Given the description of an element on the screen output the (x, y) to click on. 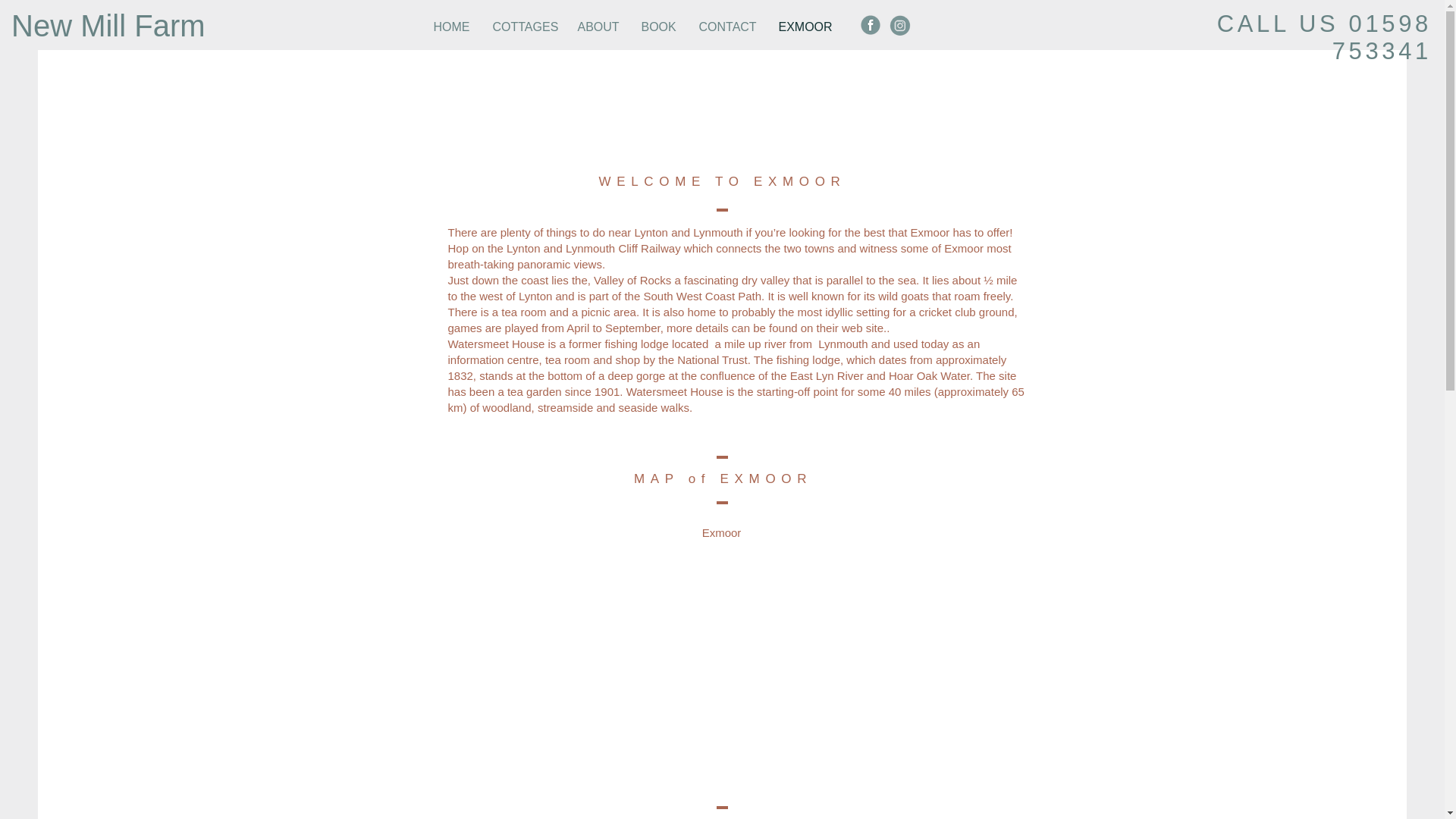
COTTAGES (523, 27)
CONTACT (727, 27)
ABOUT (597, 27)
BOOK (657, 27)
HOME (451, 27)
New Mill Farm (108, 25)
EXMOOR (804, 27)
